Given the description of an element on the screen output the (x, y) to click on. 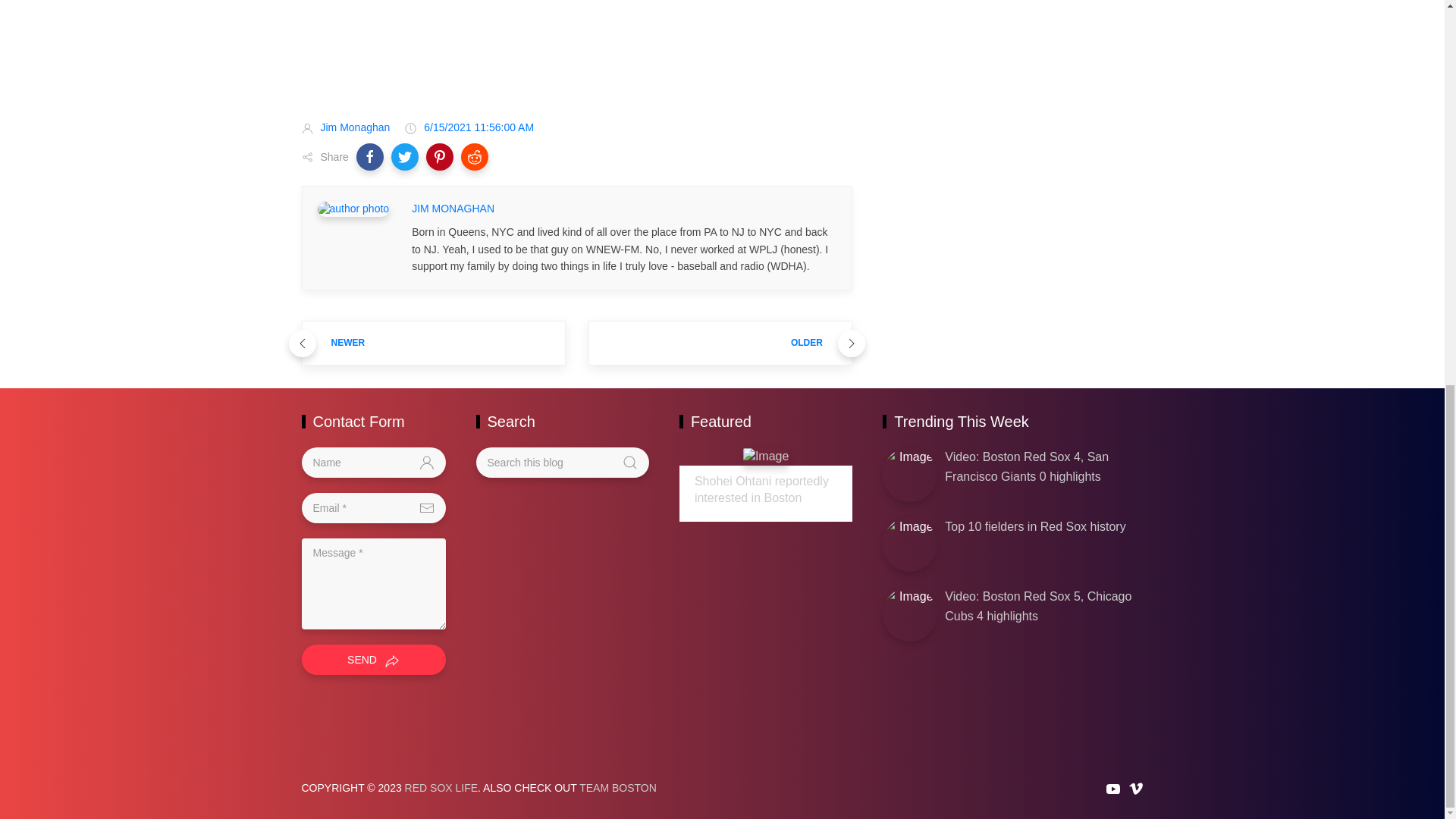
NEWER (433, 343)
Advertisement (576, 47)
author profile (352, 208)
Shohei Ohtani reportedly interested in Boston (761, 490)
author profile (453, 209)
Top 10 fielders in Red Sox history (1034, 526)
Video: Boston Red Sox 5, Chicago Cubs 4 highlights (1037, 605)
JIM MONAGHAN (453, 209)
TEAM BOSTON (617, 787)
Video: Boston Red Sox 4, San Francisco Giants 0 highlights (1026, 466)
RED SOX LIFE (440, 787)
permanent link (478, 127)
OLDER (719, 343)
author profile (355, 127)
Jim Monaghan (355, 127)
